Given the description of an element on the screen output the (x, y) to click on. 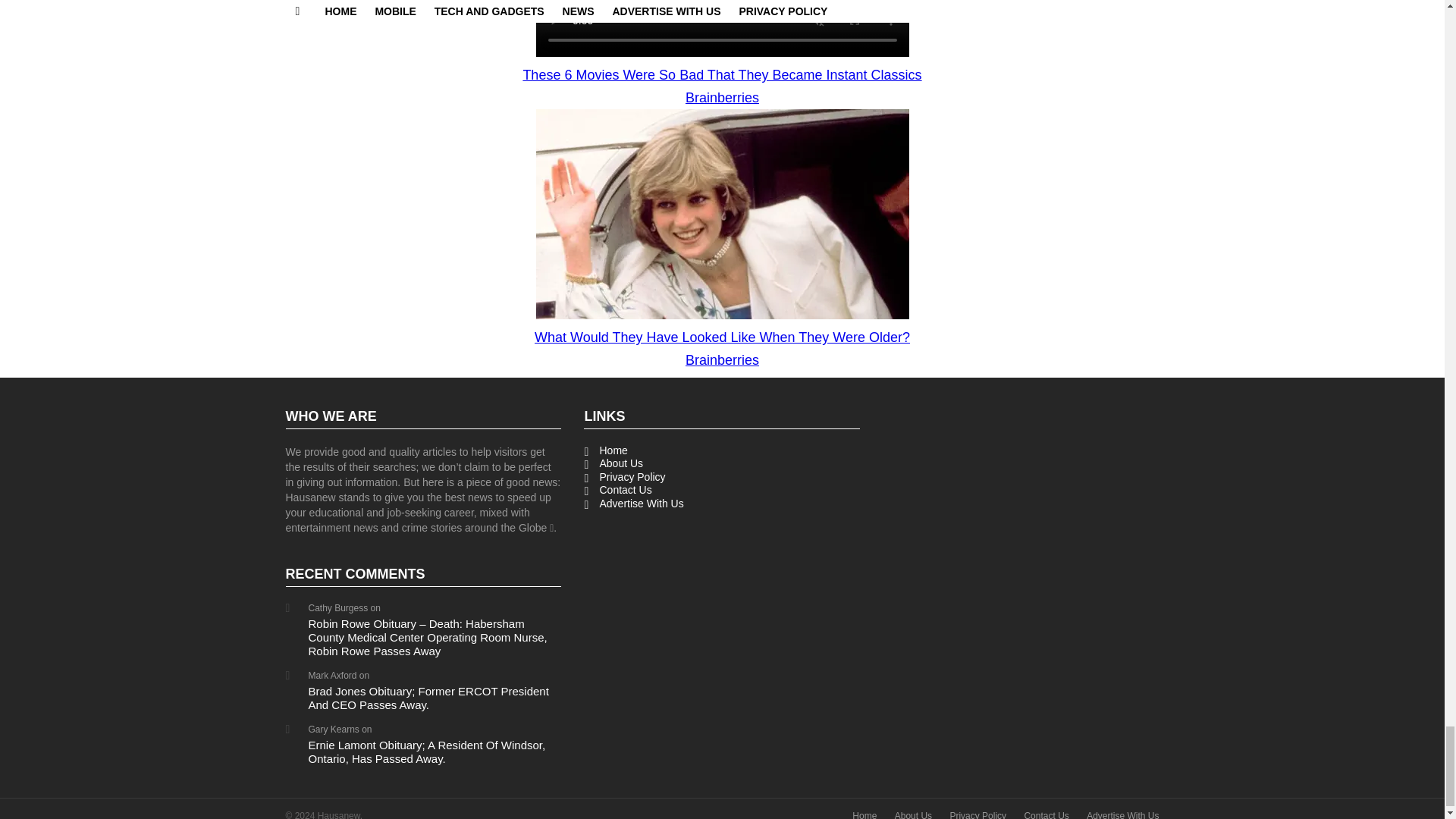
Advertise With Us (721, 504)
Advertise With Us (1122, 814)
Privacy Policy (977, 814)
About Us (912, 814)
Contact Us (721, 490)
Home (863, 814)
About Us (721, 463)
Home (721, 450)
Privacy Policy (721, 477)
Contact Us (1045, 814)
